Given the description of an element on the screen output the (x, y) to click on. 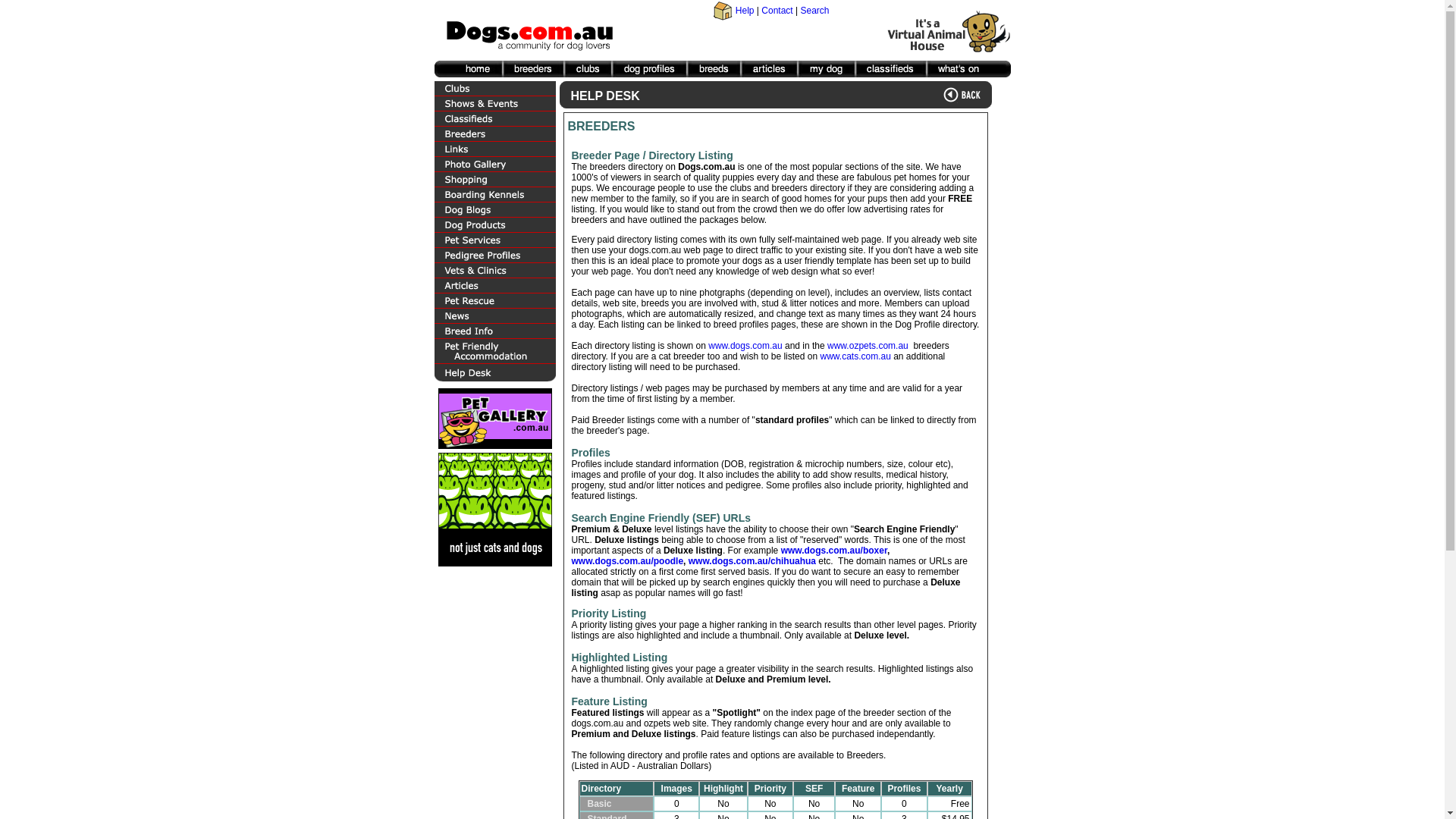
www.cats.com.au Element type: text (854, 356)
Help Element type: text (744, 10)
www.dogs.com.au/chihuahua Element type: text (751, 560)
Search Element type: text (814, 10)
Contact Element type: text (776, 10)
www.dogs.com.au/boxer Element type: text (834, 550)
www.ozpets.com.au  Element type: text (868, 345)
www.dogs.com.au Element type: text (744, 345)
www.dogs.com.au/poodle Element type: text (627, 560)
